Given the description of an element on the screen output the (x, y) to click on. 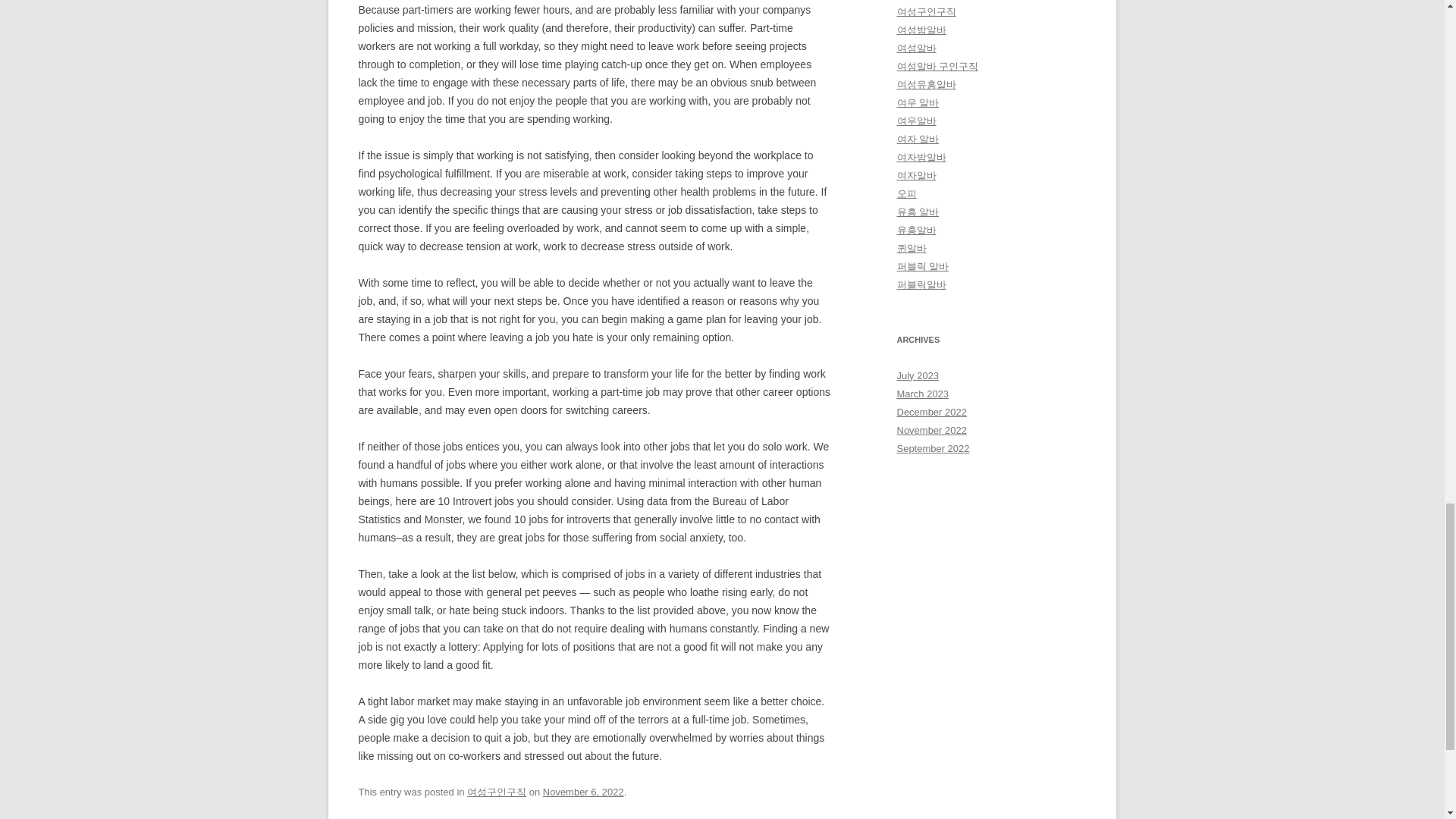
November 6, 2022 (583, 791)
1:24 pm (583, 791)
